Given the description of an element on the screen output the (x, y) to click on. 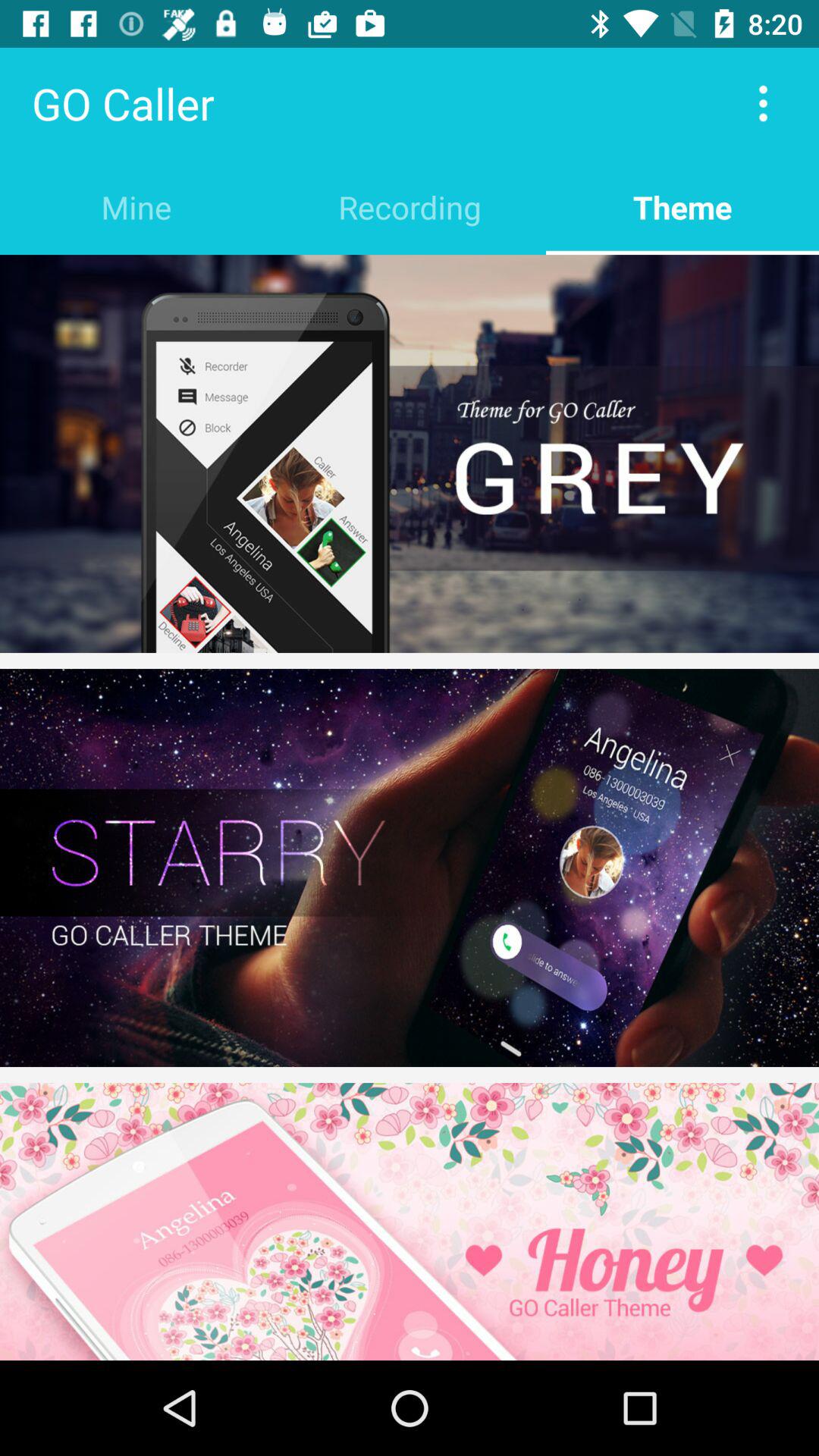
swipe to the recording (409, 206)
